Given the description of an element on the screen output the (x, y) to click on. 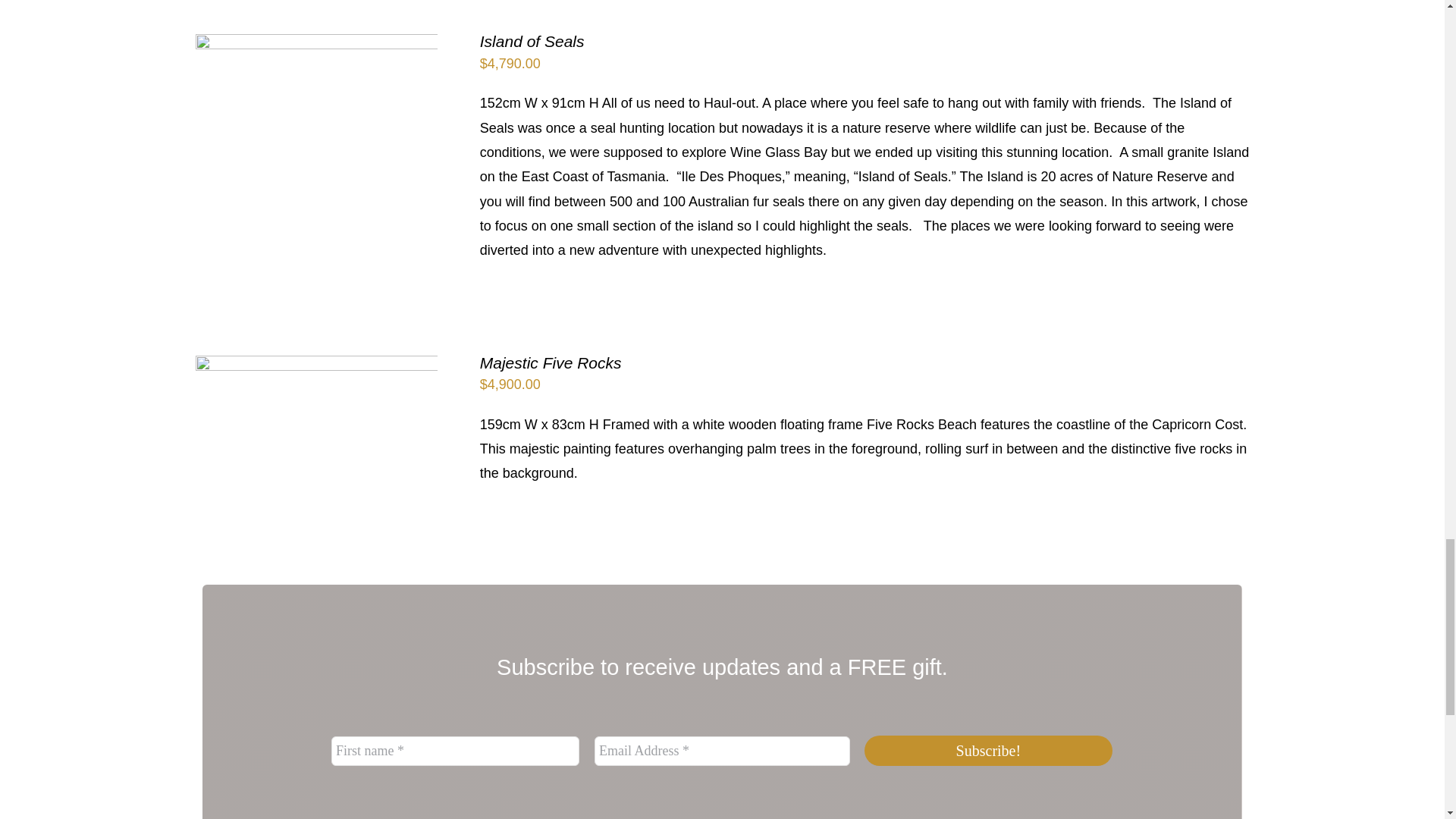
First name (455, 749)
Email Address (722, 749)
Subscribe! (988, 750)
